Given the description of an element on the screen output the (x, y) to click on. 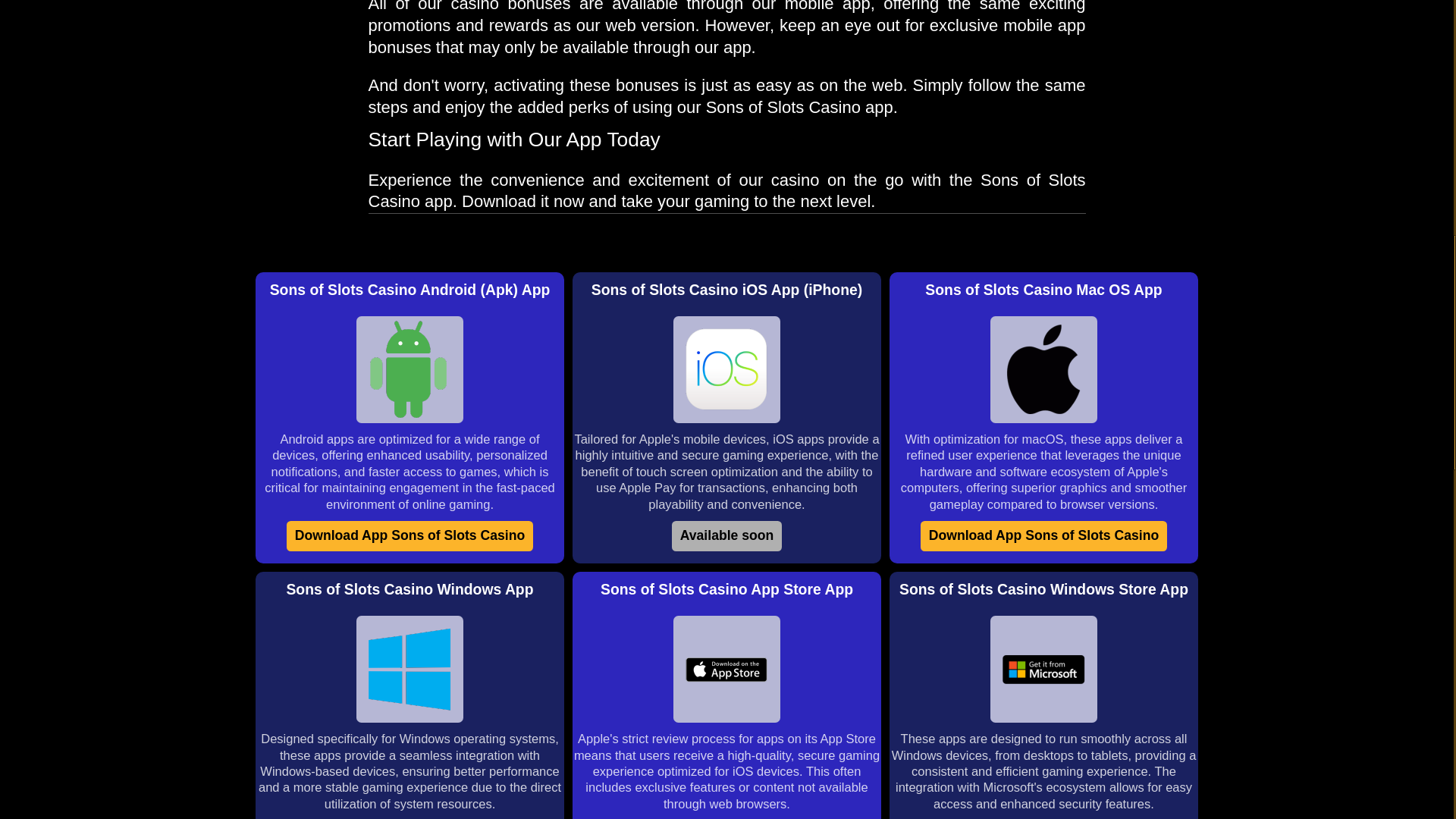
Download App Sons of Slots Casino (409, 535)
Download App Sons of Slots Casino (1043, 535)
